Given the description of an element on the screen output the (x, y) to click on. 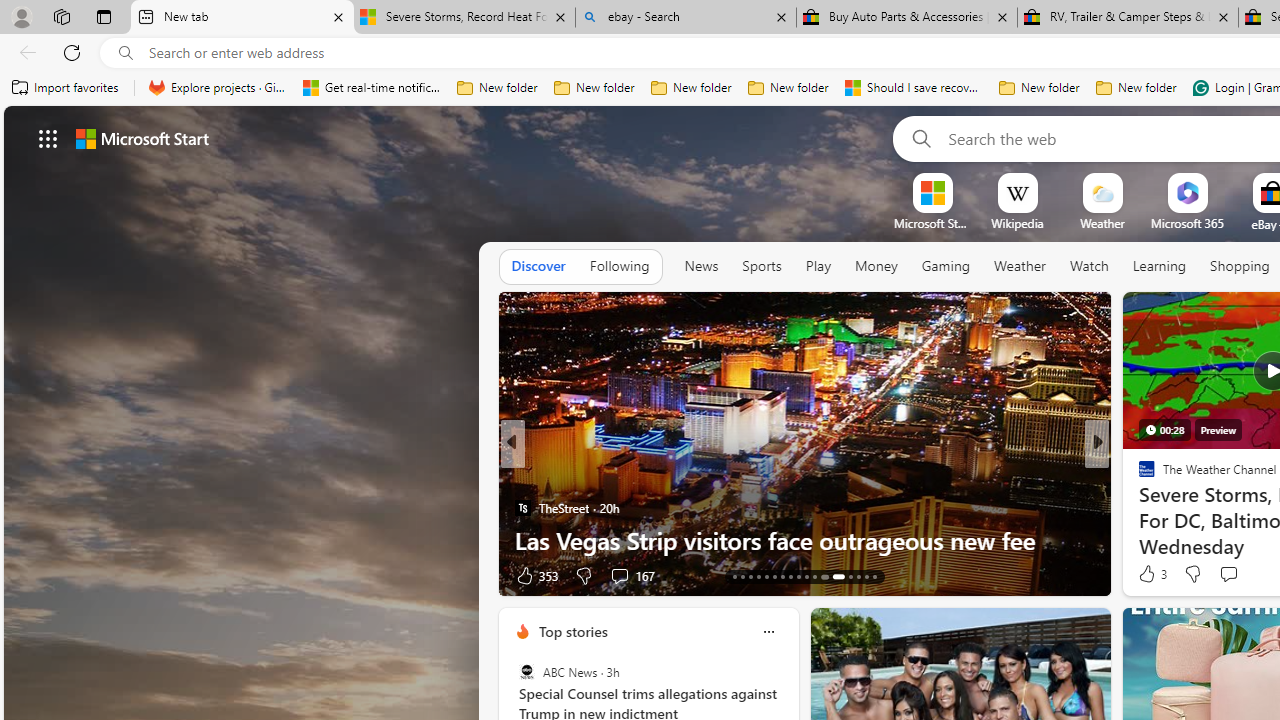
More Options (1219, 179)
Microsoft Start Sports (932, 223)
AutomationID: tab-25 (836, 576)
AutomationID: tab-26 (850, 576)
ABC News (526, 672)
View comments 96 Comment (11, 575)
Sports (761, 267)
Sports (761, 265)
View comments 8 Comment (1229, 575)
Wikipedia (1017, 223)
AutomationID: tab-21 (797, 576)
Play (818, 267)
